Given the description of an element on the screen output the (x, y) to click on. 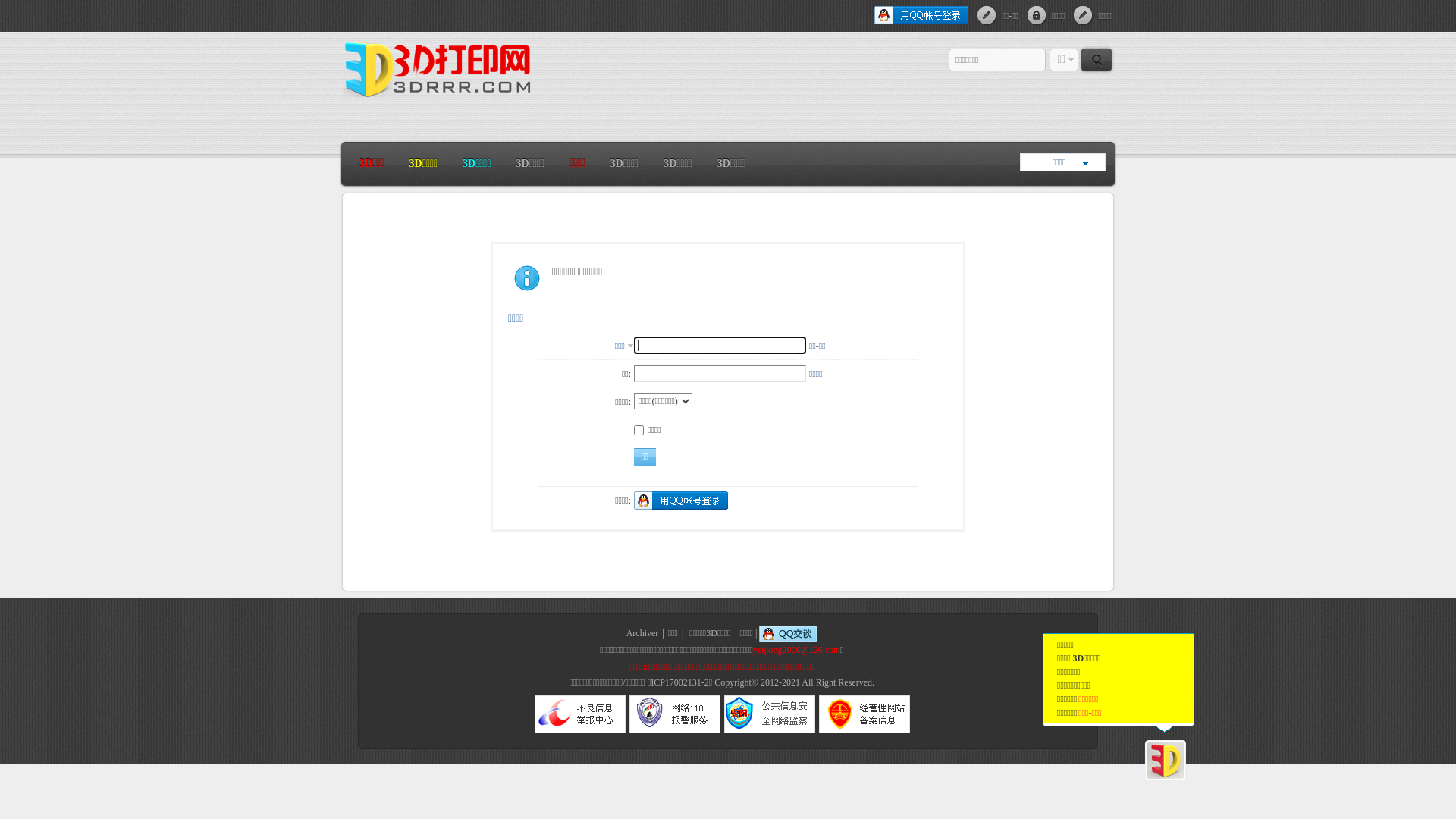
true Element type: text (1096, 59)
Archiver Element type: text (642, 632)
